Given the description of an element on the screen output the (x, y) to click on. 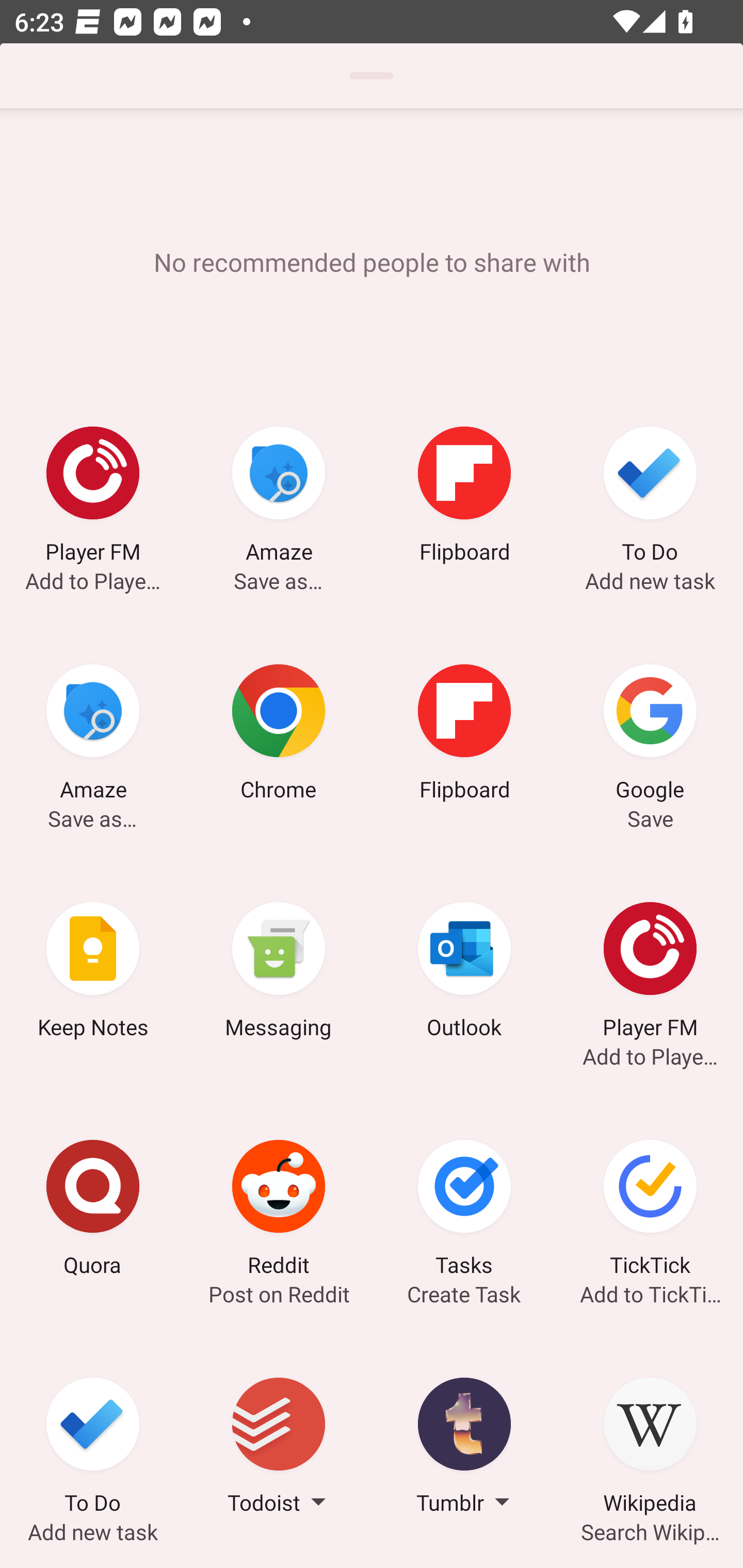
Player FM Add to Player FM (92, 497)
Amaze Save as… (278, 497)
Flipboard (464, 497)
To Do Add new task (650, 497)
Amaze Save as… (92, 735)
Chrome (278, 735)
Flipboard (464, 735)
Google Save (650, 735)
Keep Notes (92, 973)
Messaging (278, 973)
Outlook (464, 973)
Player FM Add to Player FM (650, 973)
Quora (92, 1210)
Reddit Post on Reddit (278, 1210)
Tasks Create Task (464, 1210)
TickTick Add to TickTick (650, 1210)
To Do Add new task (92, 1448)
Todoist (278, 1448)
Tumblr (464, 1448)
Wikipedia Search Wikipedia (650, 1448)
